Given the description of an element on the screen output the (x, y) to click on. 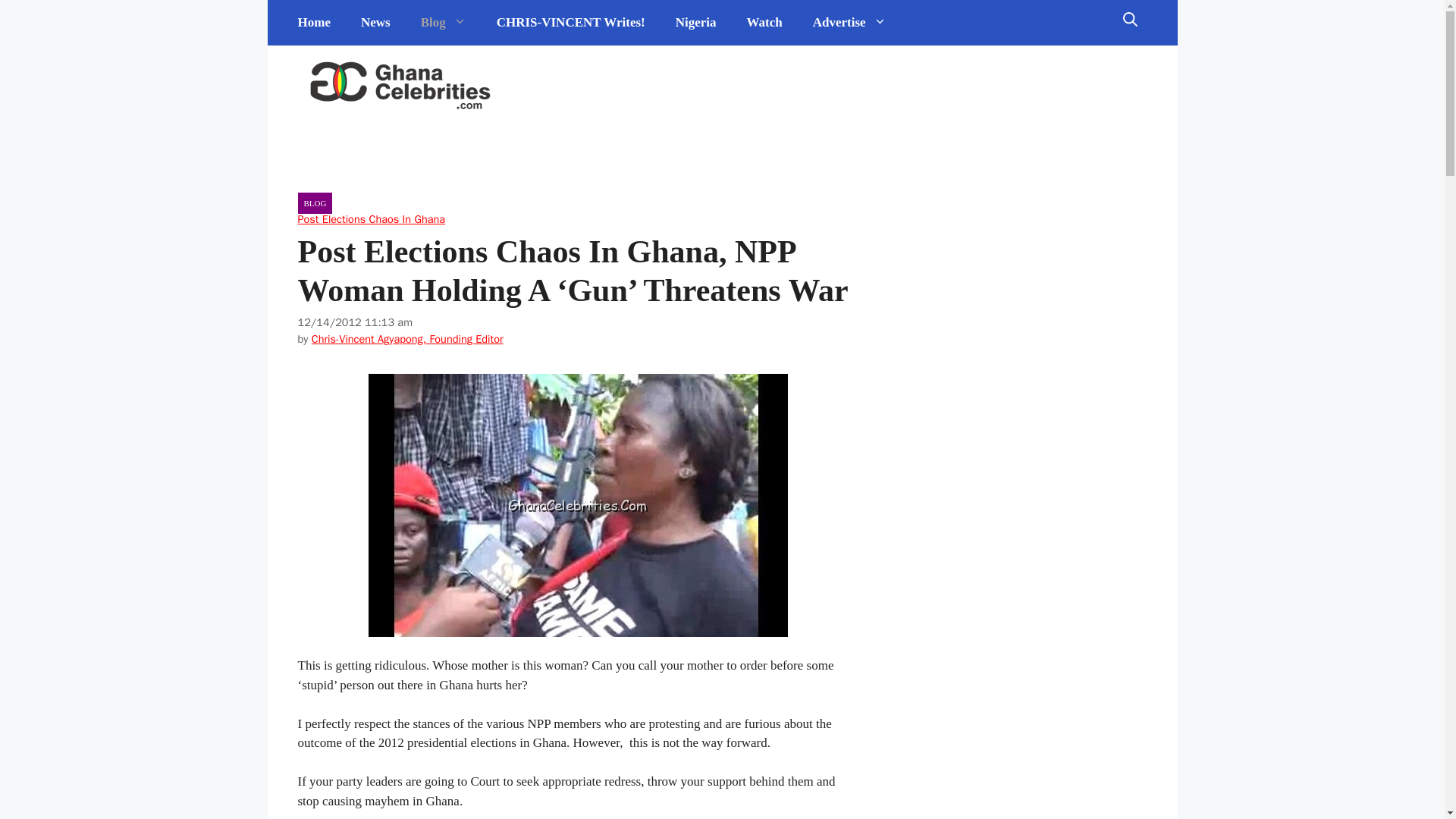
Home (313, 22)
CHRIS-VINCENT Writes! (571, 22)
Advertise (849, 22)
Blog (443, 22)
View all posts by Chris-Vincent Agyapong, Founding Editor (407, 338)
Nigeria (696, 22)
News (376, 22)
Watch (764, 22)
Woman Threatens War In Ghana (577, 505)
GhanaCelebrities.Com (400, 86)
